Given the description of an element on the screen output the (x, y) to click on. 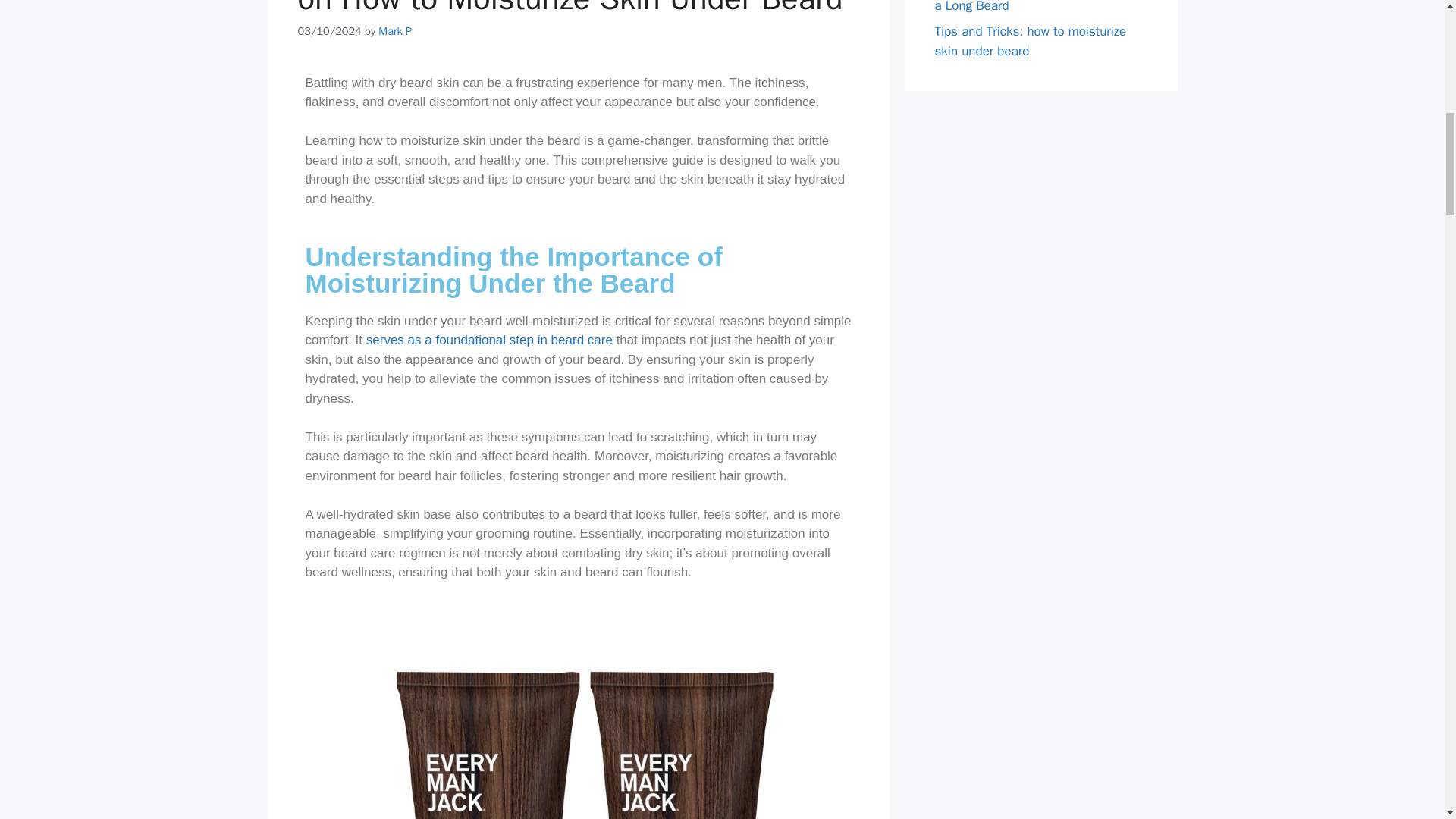
Mark P (395, 30)
View all posts by Mark P (395, 30)
Understanding the Importance of Moisturizing Under the Beard (513, 269)
serves as a foundational step in beard care  (490, 339)
